Given the description of an element on the screen output the (x, y) to click on. 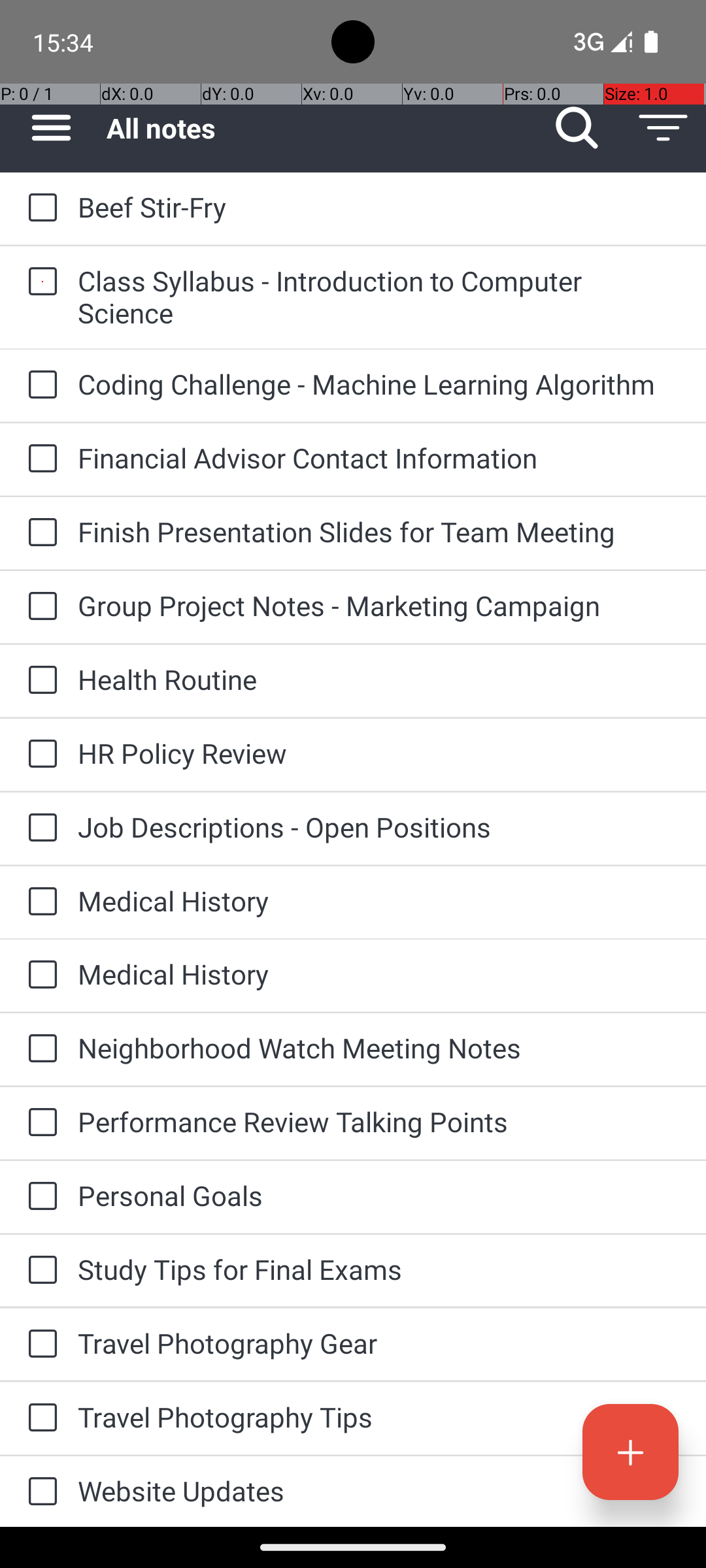
to-do: Beef Stir-Fry Element type: android.widget.CheckBox (38, 208)
Beef Stir-Fry Element type: android.widget.TextView (378, 206)
to-do: Class Syllabus - Introduction to Computer Science Element type: android.widget.CheckBox (38, 282)
Class Syllabus - Introduction to Computer Science Element type: android.widget.TextView (378, 296)
to-do: Coding Challenge - Machine Learning Algorithm Element type: android.widget.CheckBox (38, 385)
Coding Challenge - Machine Learning Algorithm Element type: android.widget.TextView (378, 383)
to-do: Finish Presentation Slides for Team Meeting Element type: android.widget.CheckBox (38, 533)
Finish Presentation Slides for Team Meeting Element type: android.widget.TextView (378, 531)
to-do: Group Project Notes - Marketing Campaign Element type: android.widget.CheckBox (38, 606)
Group Project Notes - Marketing Campaign Element type: android.widget.TextView (378, 604)
to-do: Health Routine Element type: android.widget.CheckBox (38, 680)
Health Routine Element type: android.widget.TextView (378, 678)
to-do: HR Policy Review Element type: android.widget.CheckBox (38, 754)
HR Policy Review Element type: android.widget.TextView (378, 752)
to-do: Job Descriptions - Open Positions Element type: android.widget.CheckBox (38, 828)
Job Descriptions - Open Positions Element type: android.widget.TextView (378, 826)
to-do: Medical History Element type: android.widget.CheckBox (38, 902)
Medical History Element type: android.widget.TextView (378, 900)
to-do: Neighborhood Watch Meeting Notes Element type: android.widget.CheckBox (38, 1049)
Neighborhood Watch Meeting Notes Element type: android.widget.TextView (378, 1047)
to-do: Performance Review Talking Points Element type: android.widget.CheckBox (38, 1123)
Performance Review Talking Points Element type: android.widget.TextView (378, 1121)
to-do: Personal Goals Element type: android.widget.CheckBox (38, 1196)
Personal Goals Element type: android.widget.TextView (378, 1194)
to-do: Study Tips for Final Exams Element type: android.widget.CheckBox (38, 1270)
Study Tips for Final Exams Element type: android.widget.TextView (378, 1268)
to-do: Travel Photography Gear Element type: android.widget.CheckBox (38, 1344)
Travel Photography Gear Element type: android.widget.TextView (378, 1342)
to-do: Travel Photography Tips Element type: android.widget.CheckBox (38, 1418)
Travel Photography Tips Element type: android.widget.TextView (378, 1416)
to-do: Website Updates Element type: android.widget.CheckBox (38, 1491)
Website Updates Element type: android.widget.TextView (378, 1490)
